Given the description of an element on the screen output the (x, y) to click on. 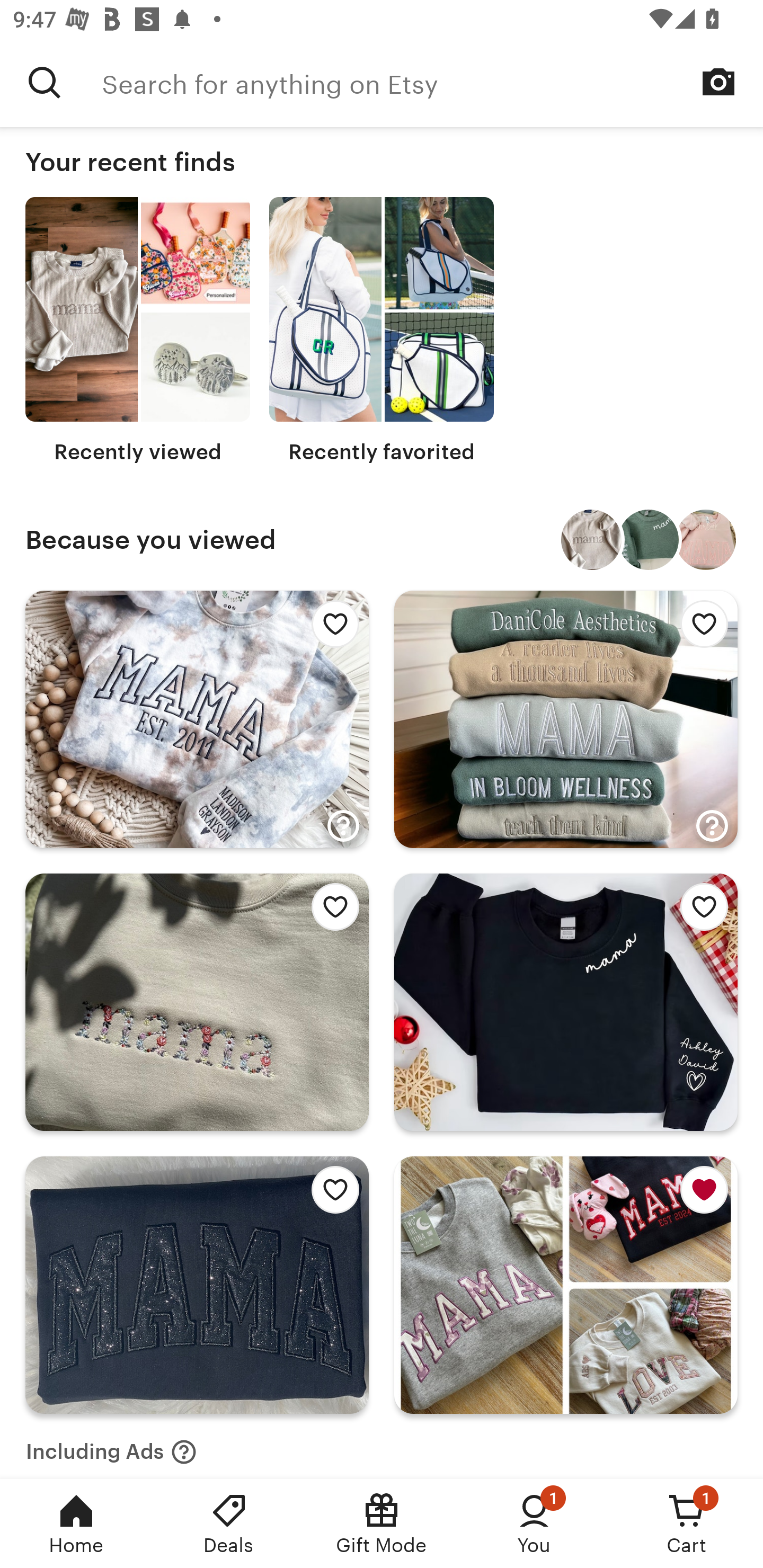
Search for anything on Etsy (44, 82)
Search by image (718, 81)
Search for anything on Etsy (432, 82)
Recently viewed (137, 330)
Recently favorited (381, 330)
Including Ads (111, 1446)
Deals (228, 1523)
Gift Mode (381, 1523)
You, 1 new notification You (533, 1523)
Cart, 1 new notification Cart (686, 1523)
